Given the description of an element on the screen output the (x, y) to click on. 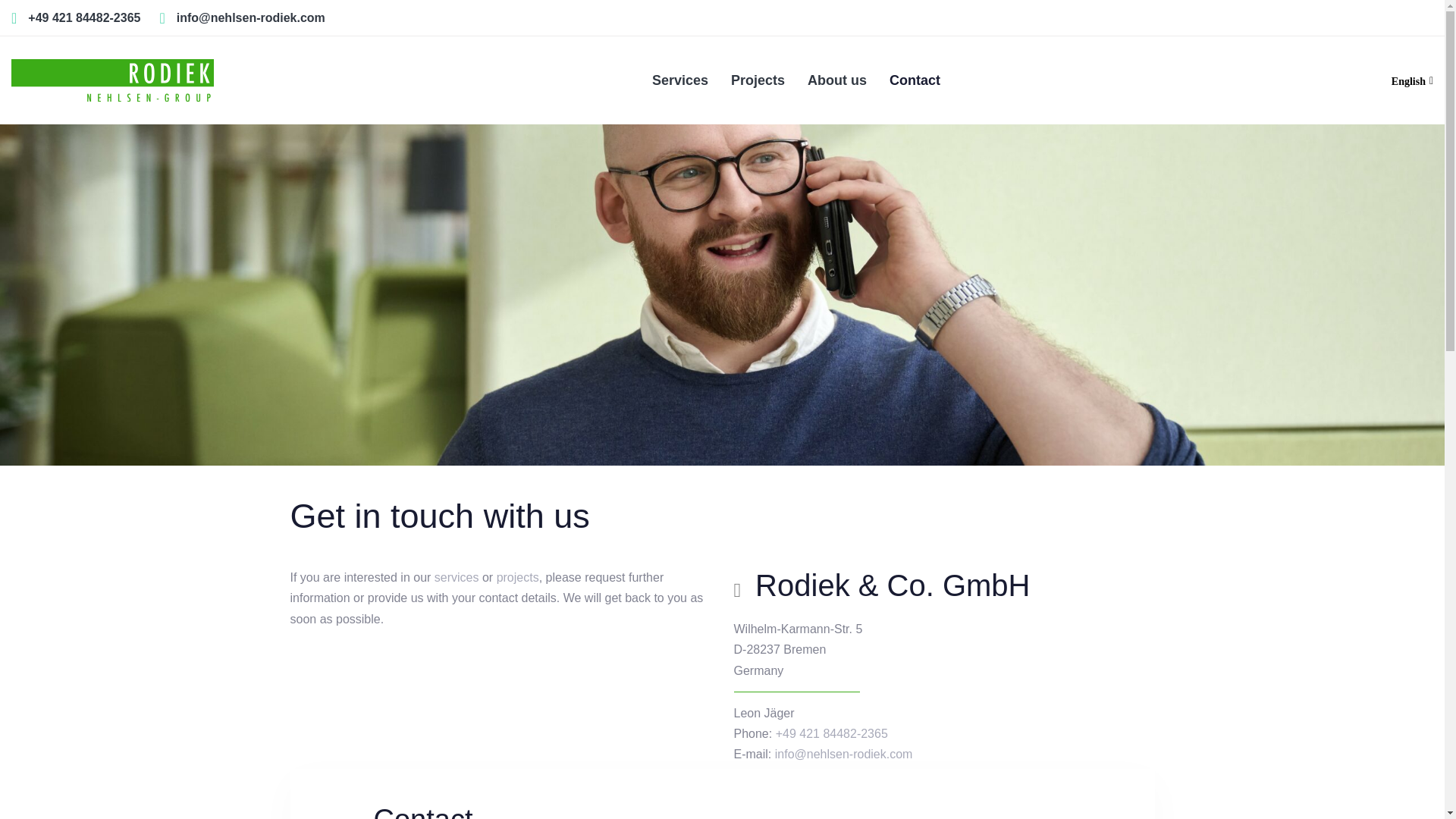
projects (517, 576)
Services (679, 80)
services (456, 576)
About us (836, 80)
